Given the description of an element on the screen output the (x, y) to click on. 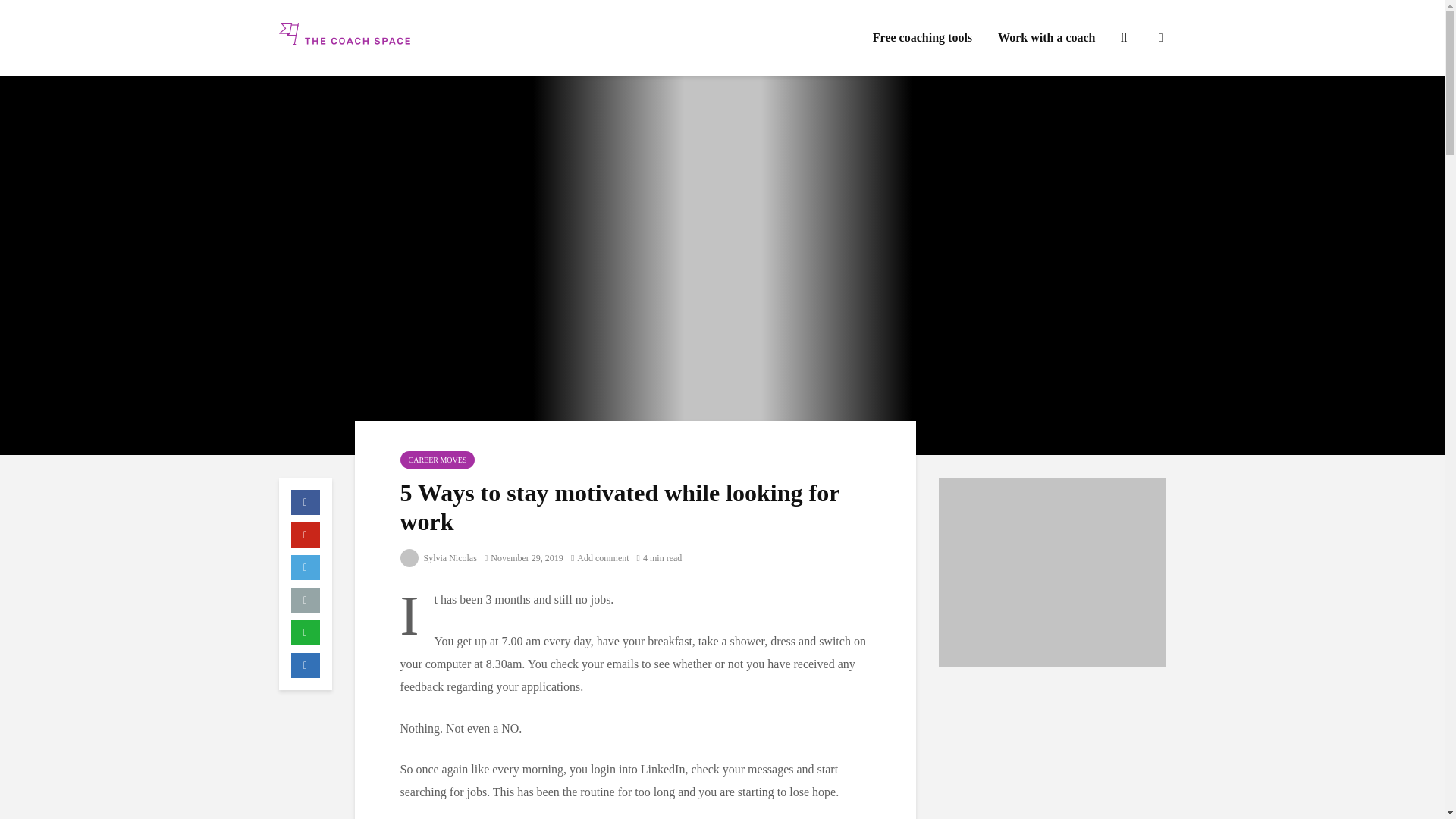
Add comment (599, 557)
CAREER MOVES (438, 459)
Work with a coach (1046, 37)
Free coaching tools (922, 37)
Sylvia Nicolas (438, 557)
